Given the description of an element on the screen output the (x, y) to click on. 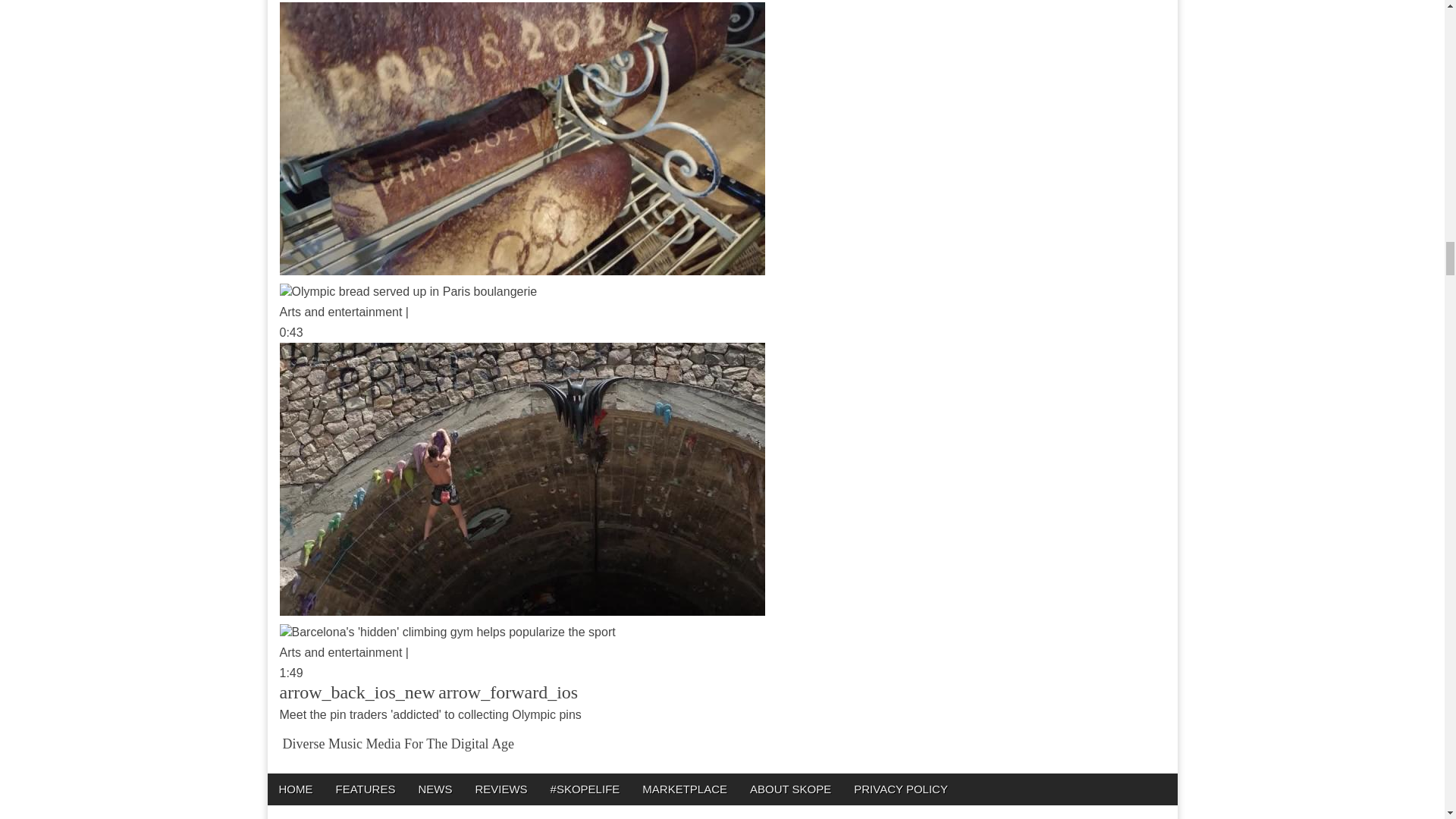
PRIVACY POLICY (901, 788)
HOME (294, 788)
MARKETPLACE (684, 788)
FEATURES (365, 788)
NEWS (434, 788)
ABOUT SKOPE (790, 788)
REVIEWS (500, 788)
